Given the description of an element on the screen output the (x, y) to click on. 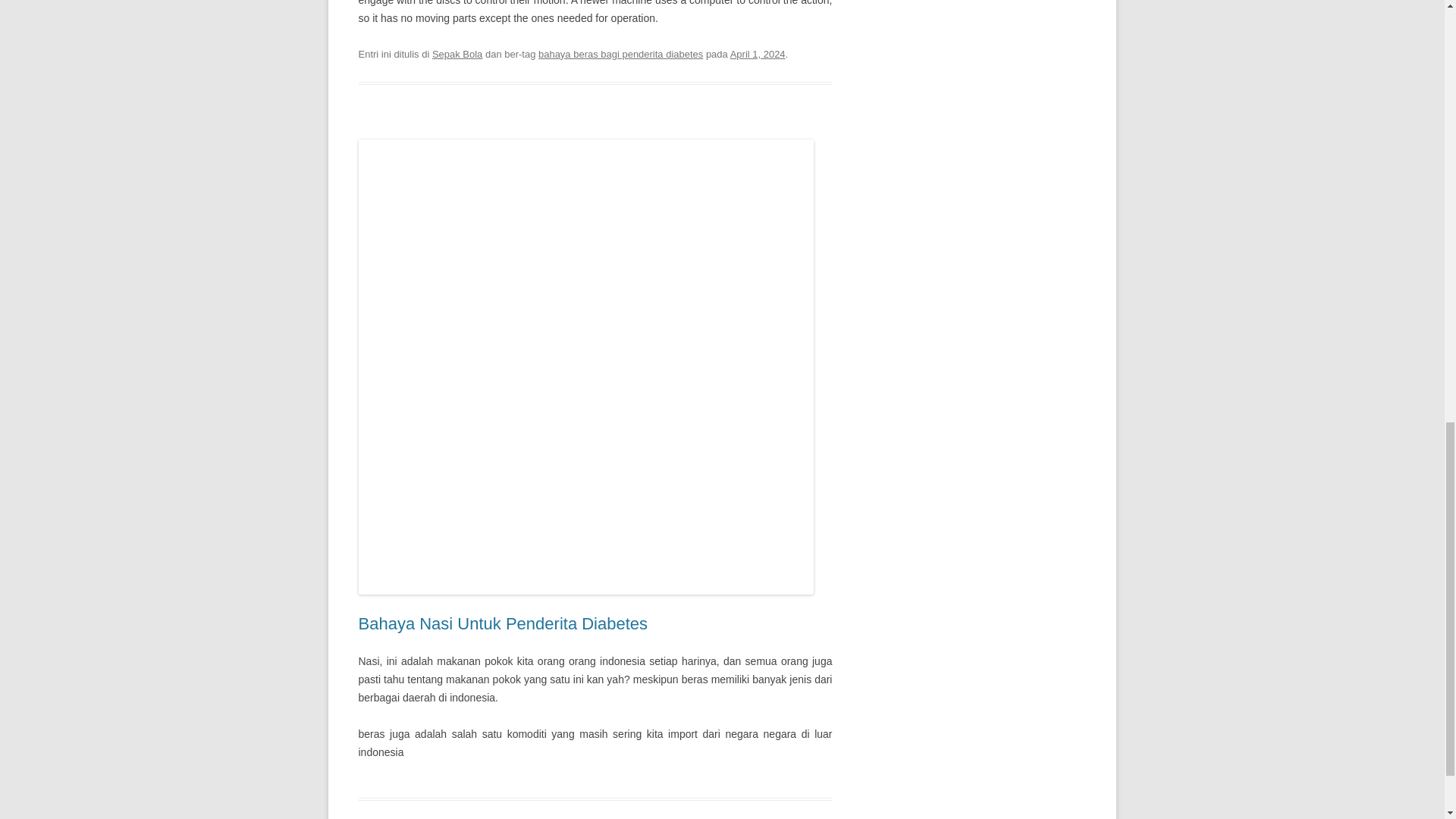
Sepak Bola (456, 53)
bahaya beras bagi penderita diabetes (620, 53)
Bahaya Nasi Untuk Penderita Diabetes (502, 623)
April 1, 2024 (758, 53)
3:20 am (758, 53)
